Given the description of an element on the screen output the (x, y) to click on. 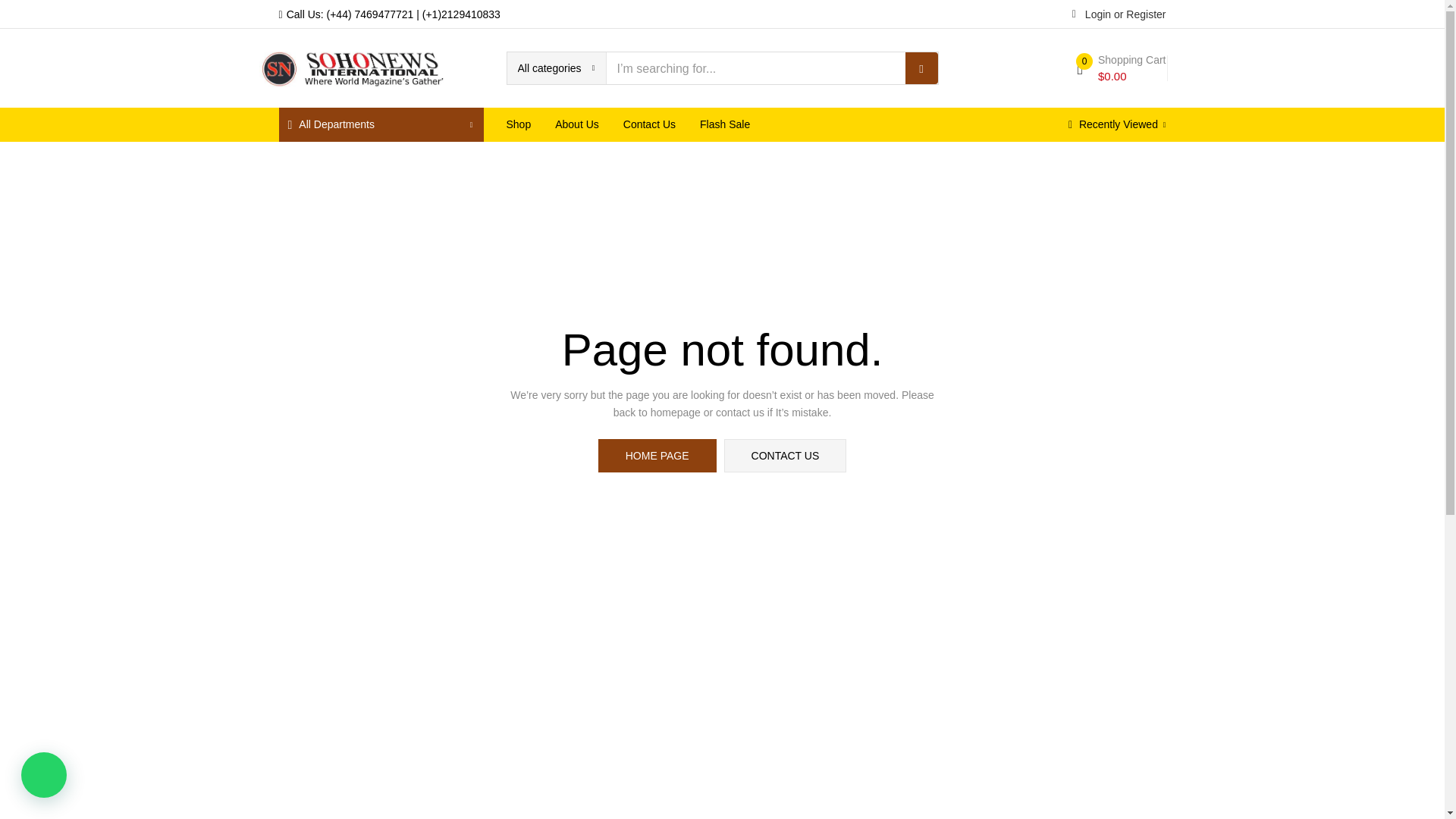
View your shopping cart (1121, 68)
Login or Register (1118, 13)
 All categories (555, 68)
